Given the description of an element on the screen output the (x, y) to click on. 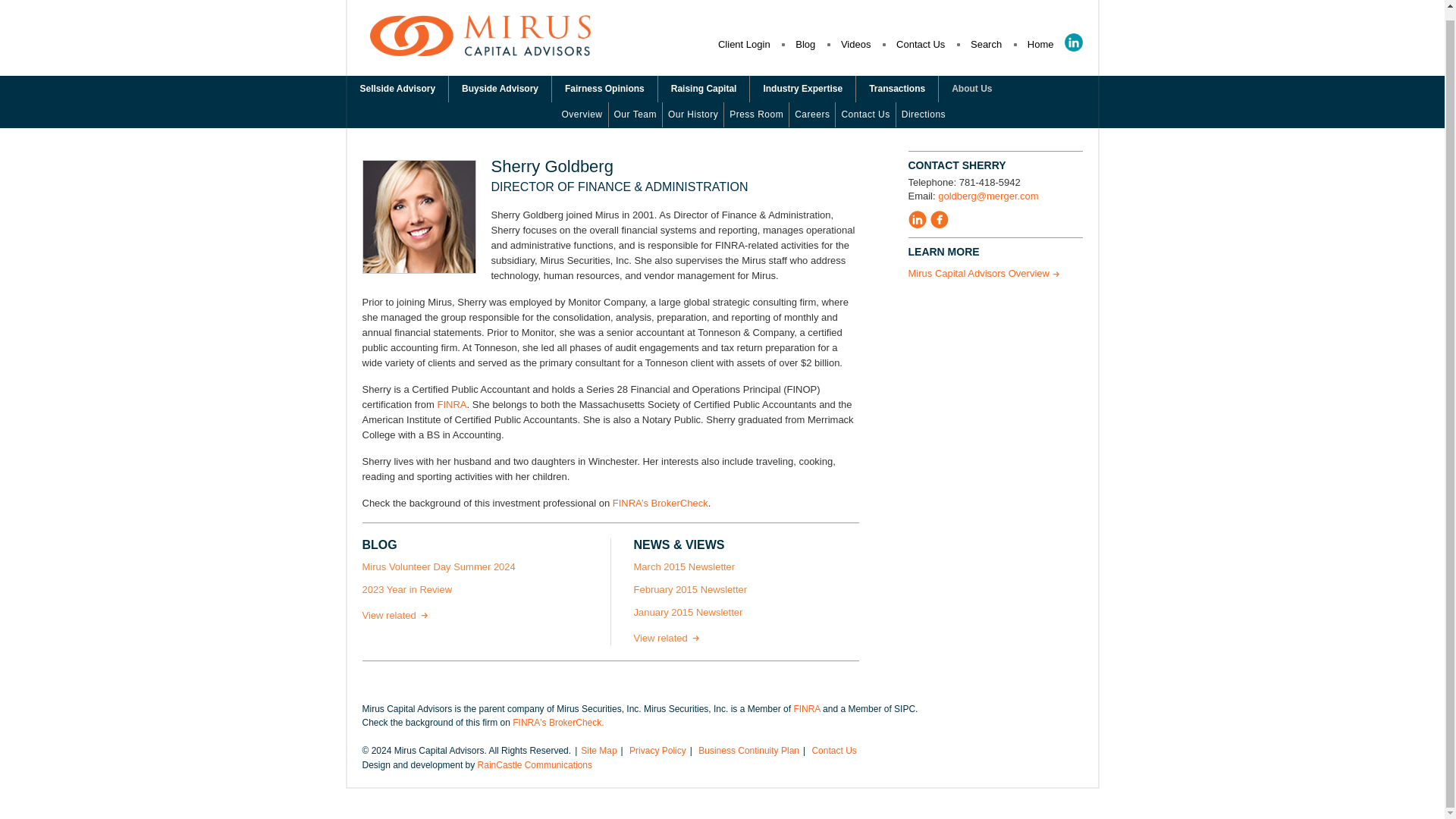
Buyside Advisory (499, 89)
Raising Capital (703, 89)
Mirus Capital Advisors (480, 49)
Client Login (743, 43)
LinkedIn (1073, 42)
Sellside Advisory (397, 89)
Blog (804, 43)
Industry Expertise (802, 89)
Fairness Opinions (604, 89)
Contact Us (920, 43)
Home (1040, 43)
Videos (855, 43)
Search (986, 43)
LinkedIn (1073, 42)
